Given the description of an element on the screen output the (x, y) to click on. 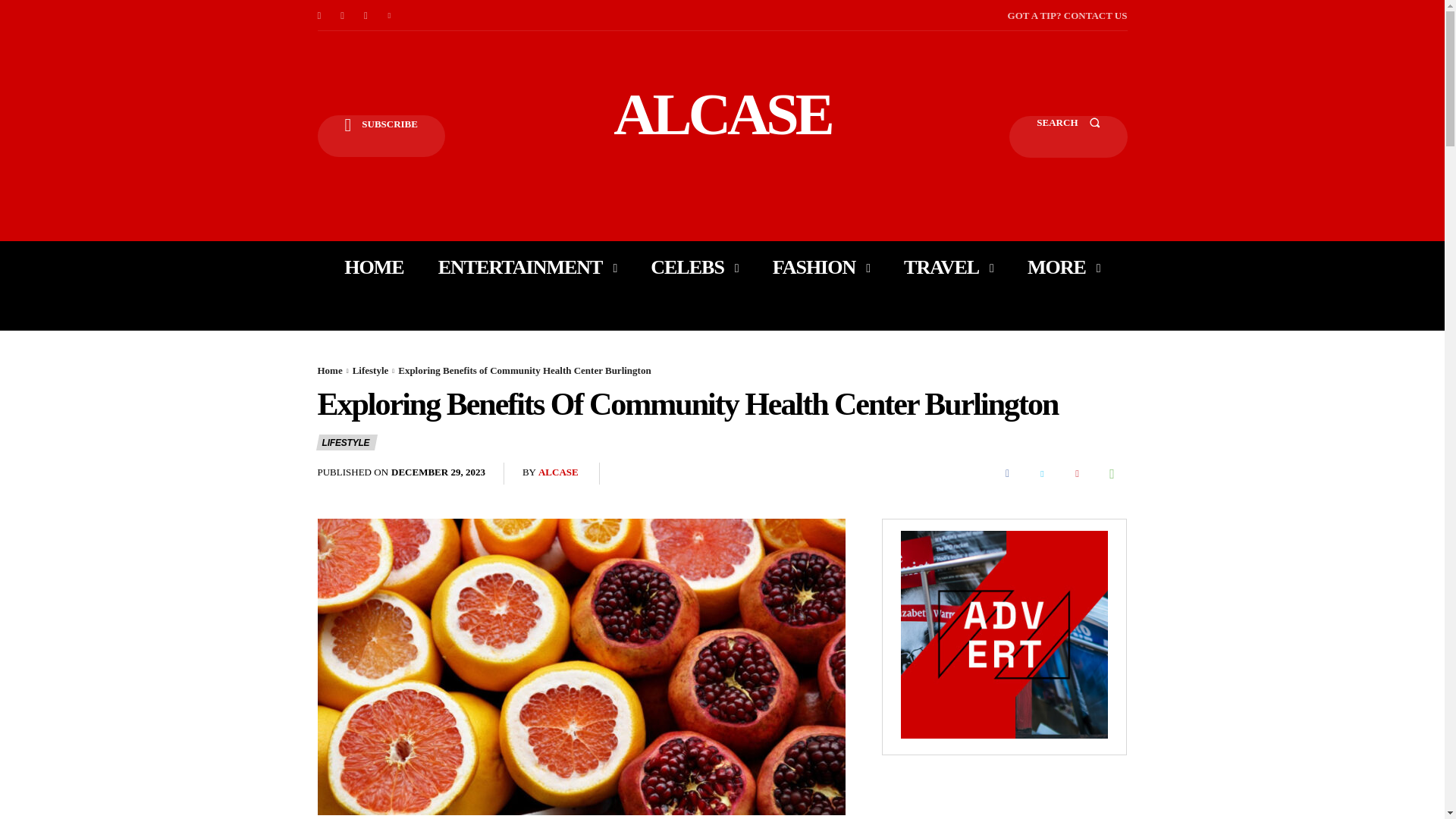
GOT A TIP? CONTACT US (1066, 15)
TikTok (366, 15)
SEARCH (1067, 137)
SUBSCRIBE (380, 136)
Facebook (318, 15)
Twitter (389, 15)
ALCASE (722, 113)
Instagram (342, 15)
